Given the description of an element on the screen output the (x, y) to click on. 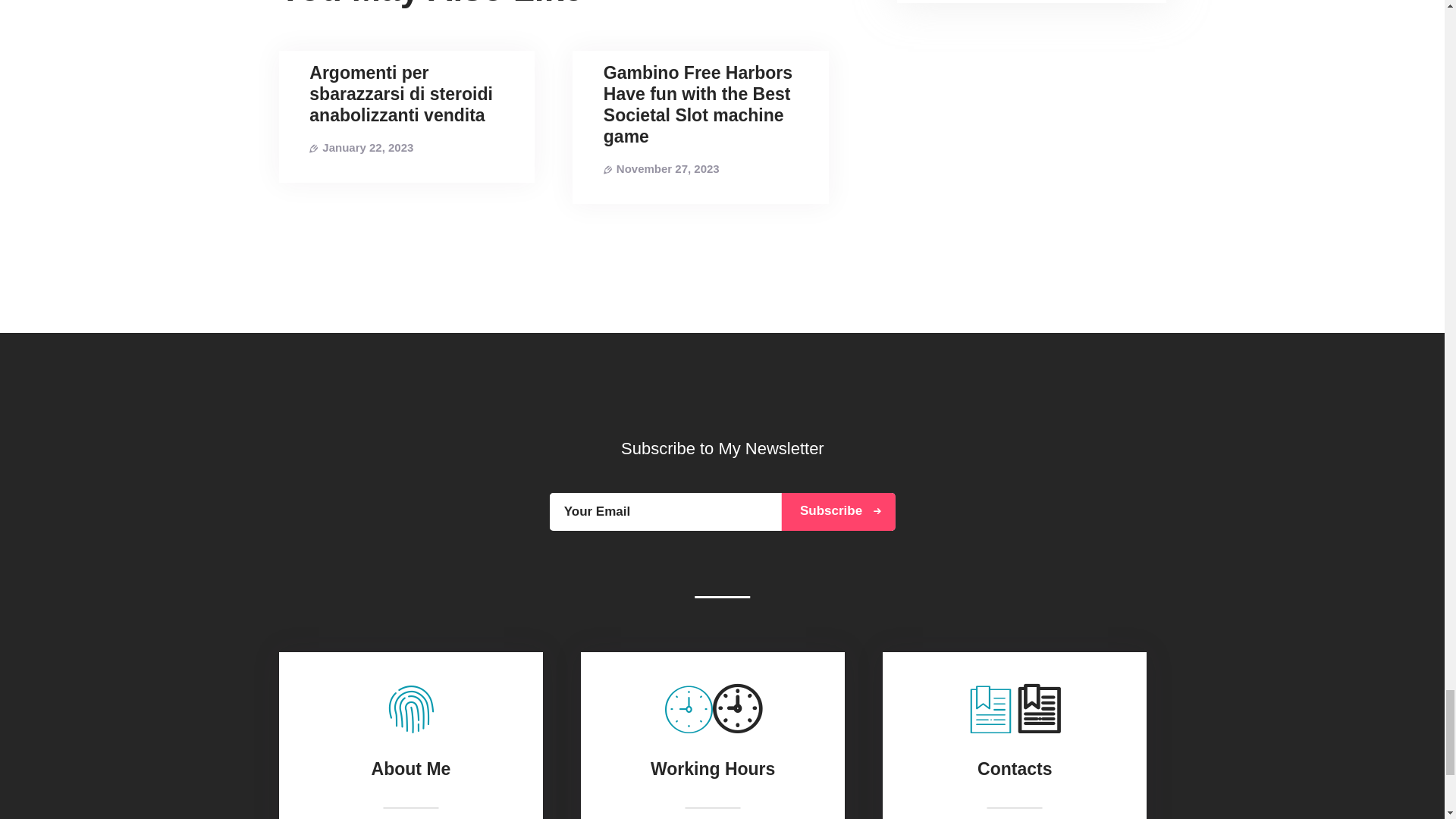
Argomenti per sbarazzarsi di steroidi anabolizzanti vendita (405, 94)
November 27, 2023 (667, 168)
January 22, 2023 (367, 146)
